Given the description of an element on the screen output the (x, y) to click on. 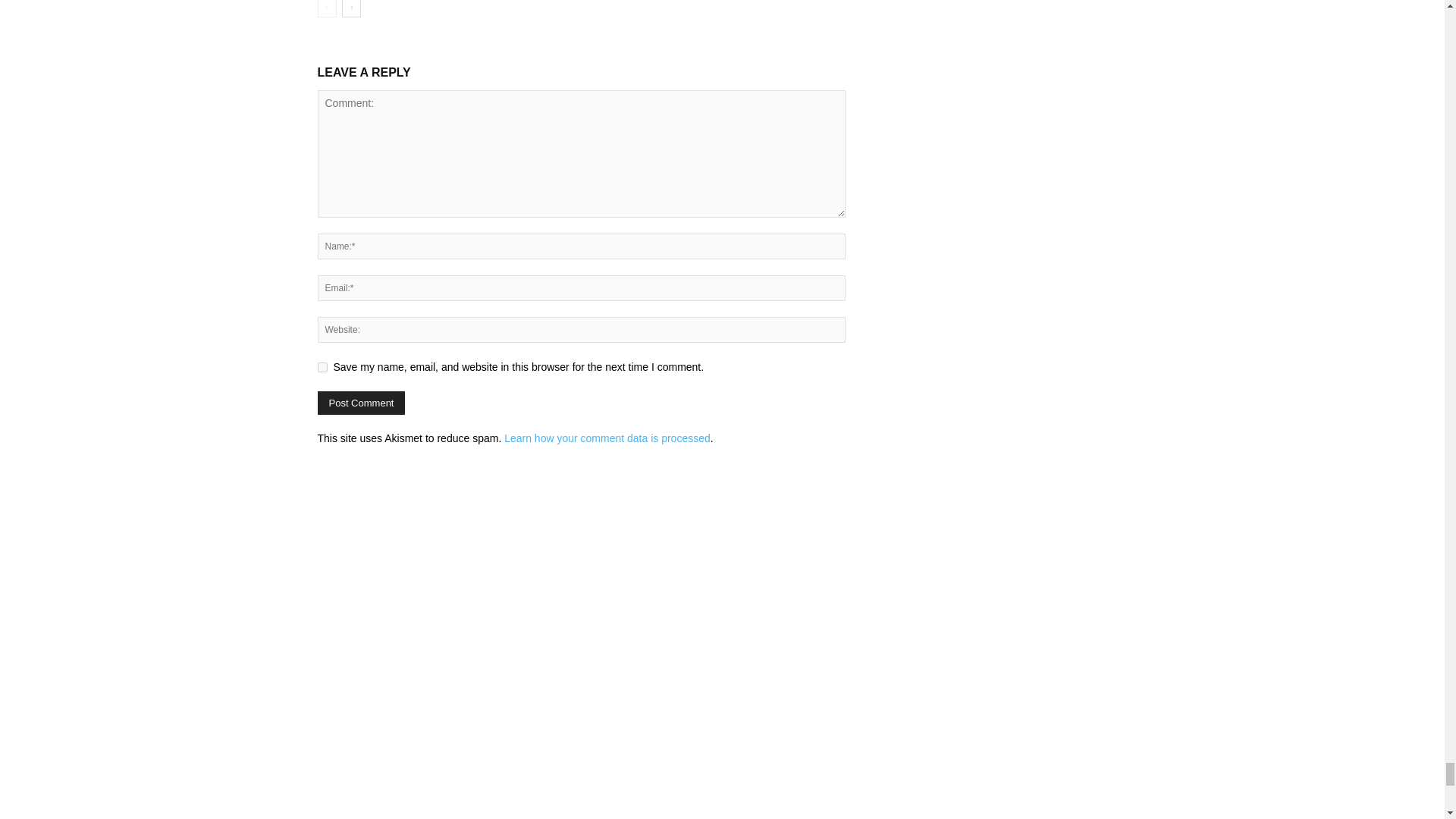
Post Comment (360, 402)
yes (321, 367)
